Given the description of an element on the screen output the (x, y) to click on. 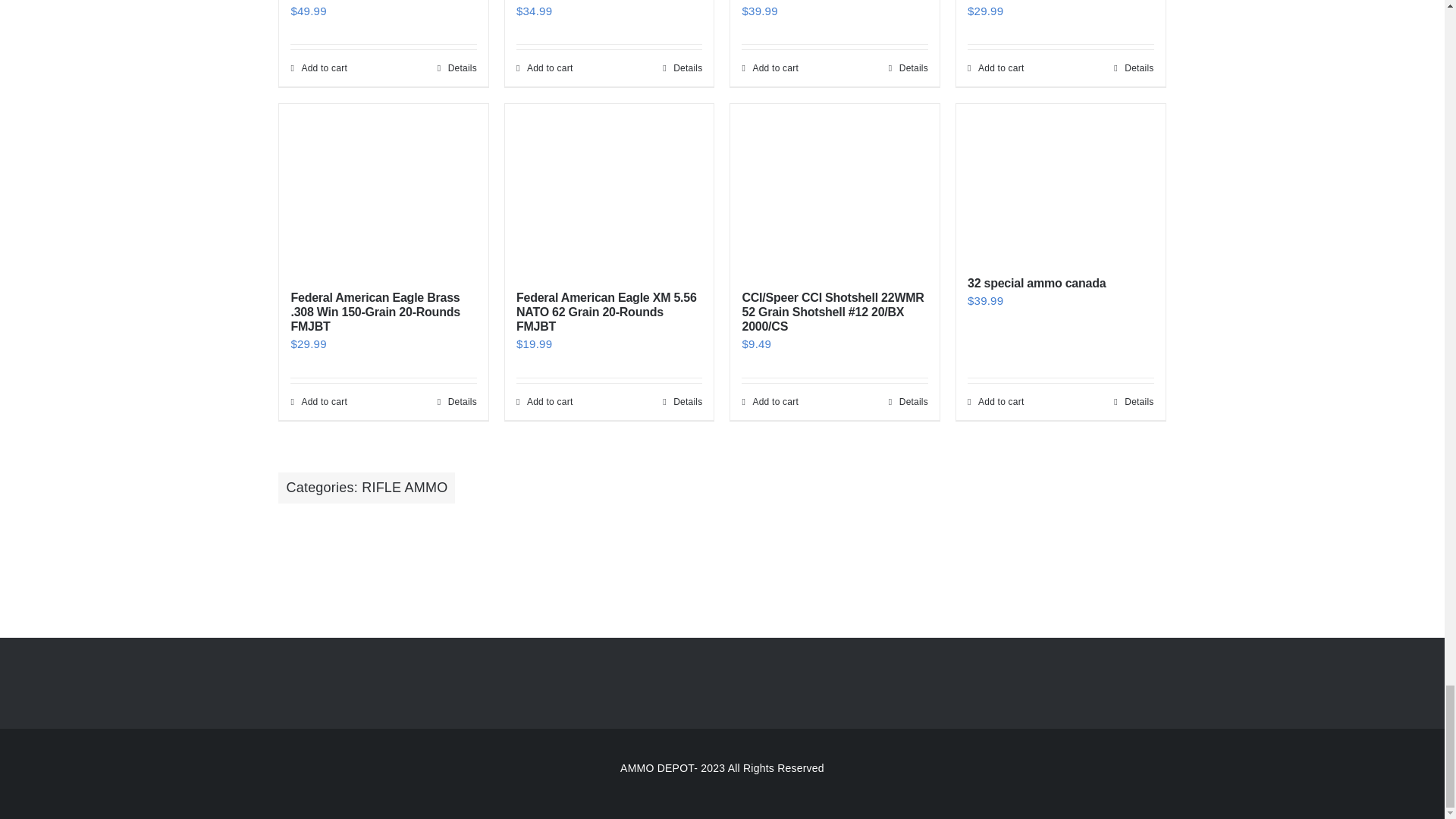
Details (457, 68)
Add to cart (318, 68)
Details (681, 68)
Details (908, 68)
Add to cart (769, 68)
Add to cart (544, 68)
